Given the description of an element on the screen output the (x, y) to click on. 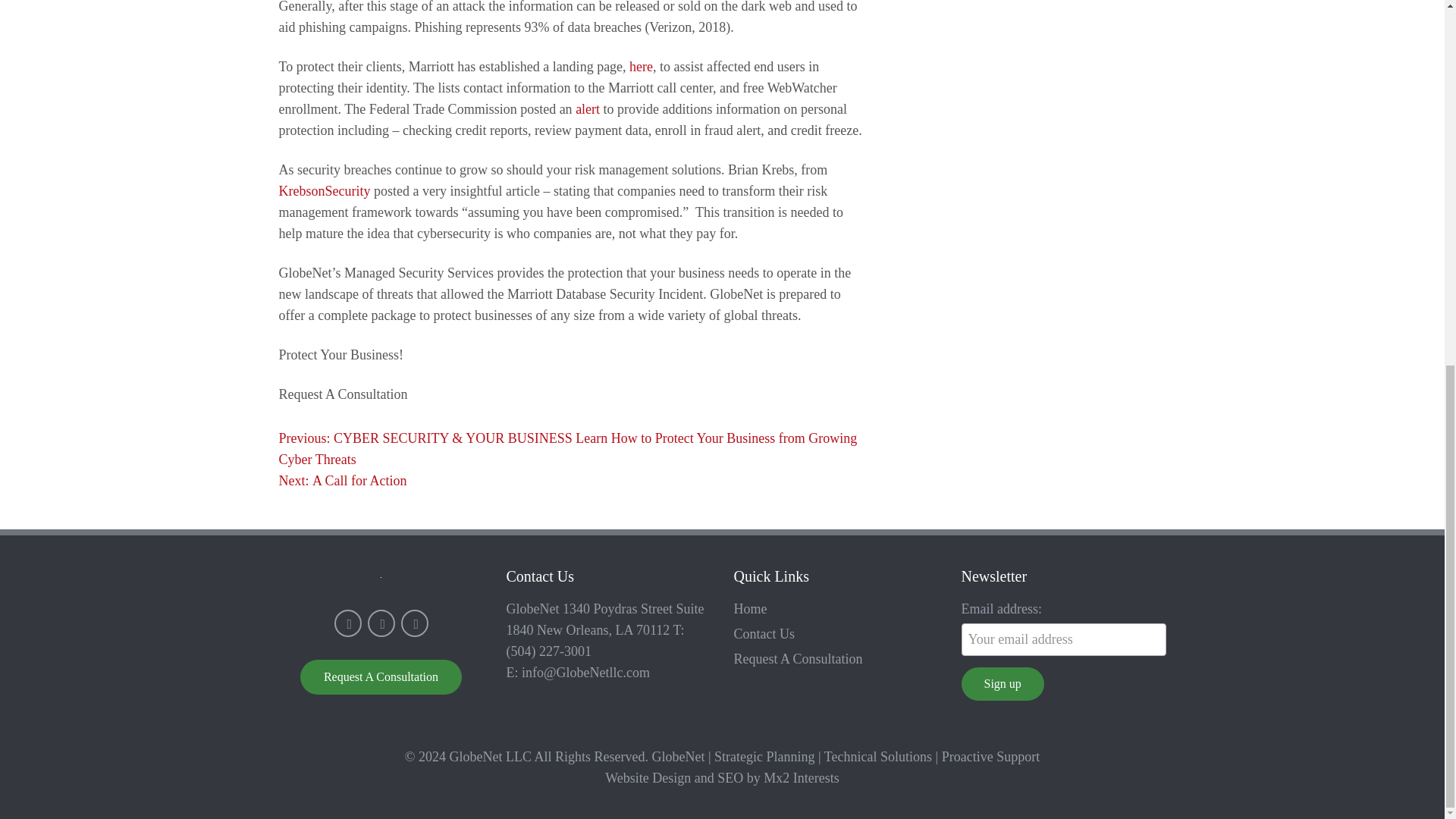
here (640, 66)
alert (343, 480)
Sign up (587, 109)
KrebsonSecurity (1001, 684)
